Given the description of an element on the screen output the (x, y) to click on. 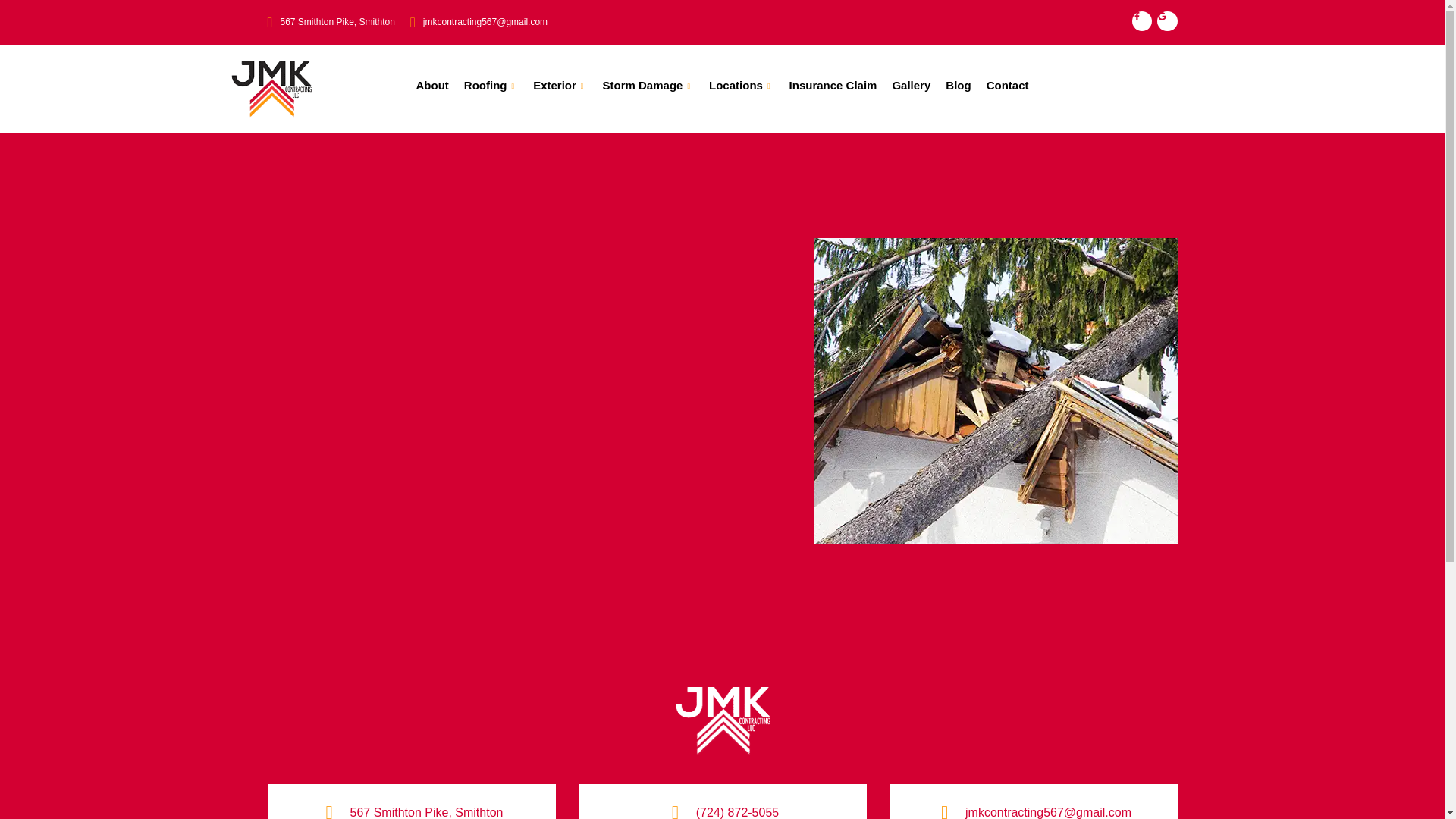
567 Smithton Pike, Smithton (330, 22)
Storm Damage (648, 89)
About (433, 89)
Insurance Claim (833, 89)
567 Smithton Pike, Smithton (426, 812)
Exterior (559, 89)
Roofing (491, 89)
Gallery (910, 89)
Contact (1007, 89)
Locations (741, 89)
